Given the description of an element on the screen output the (x, y) to click on. 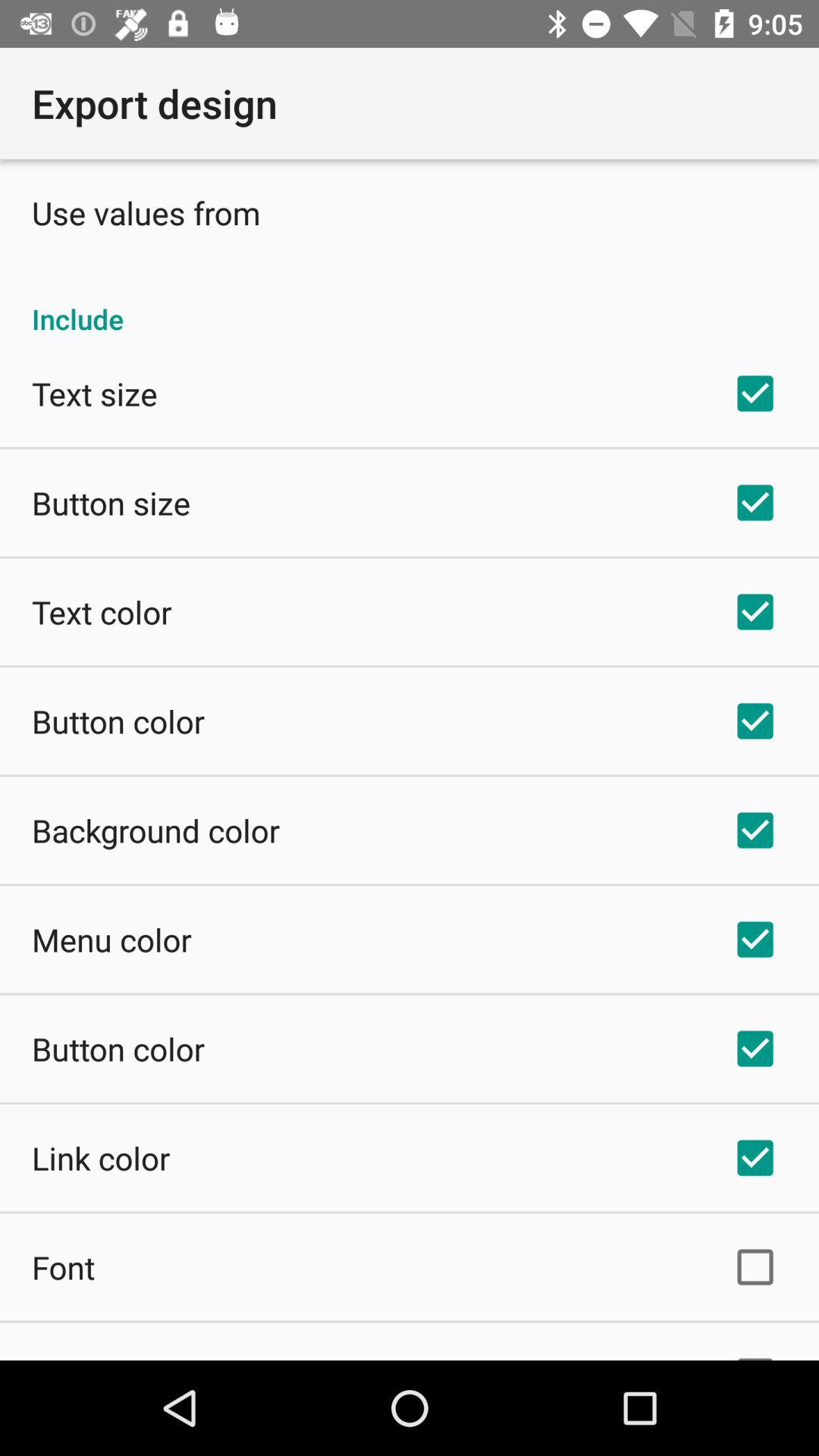
flip until the use values from icon (145, 212)
